Given the description of an element on the screen output the (x, y) to click on. 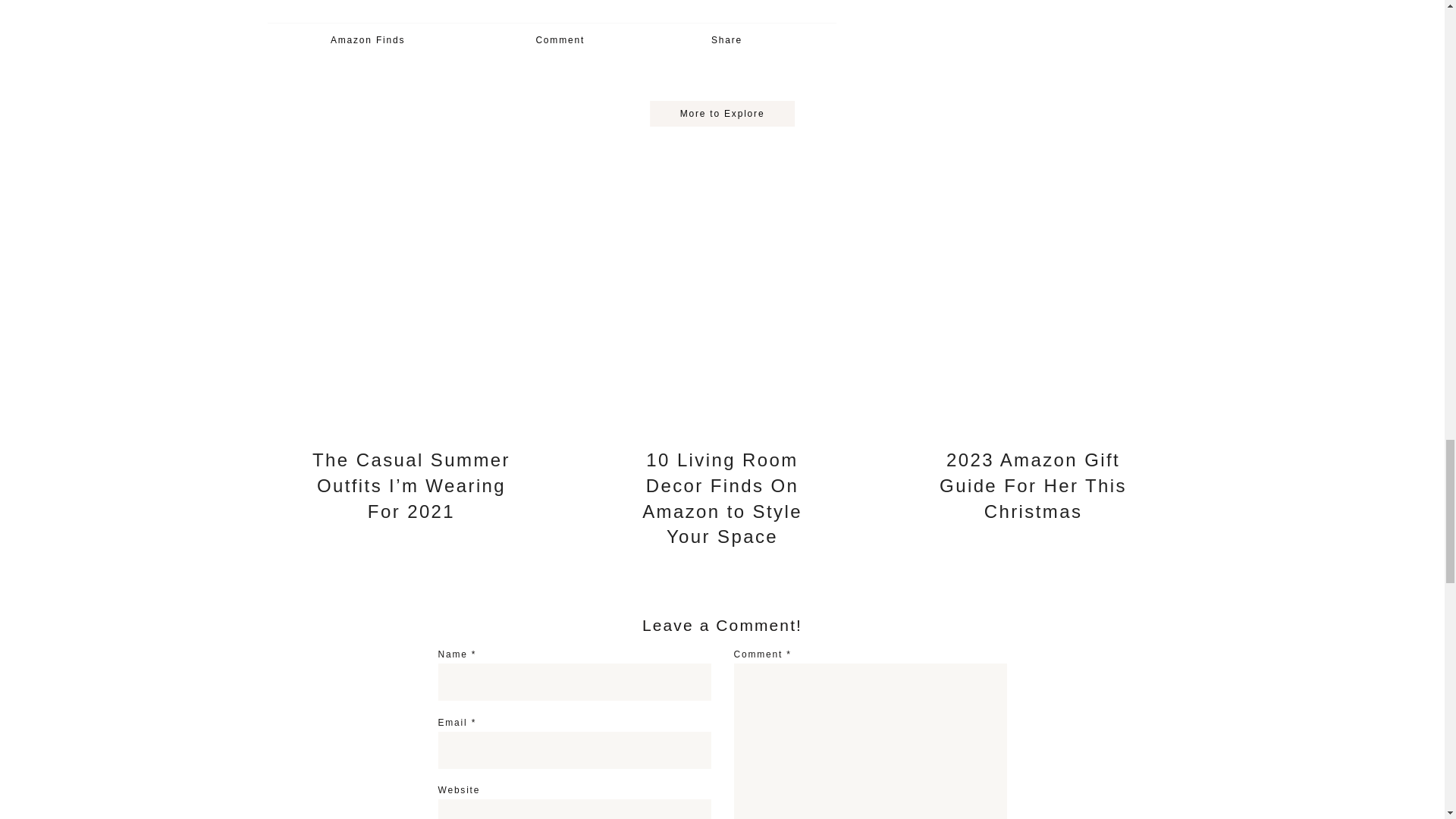
View all posts in Amazon Finds (367, 40)
